Given the description of an element on the screen output the (x, y) to click on. 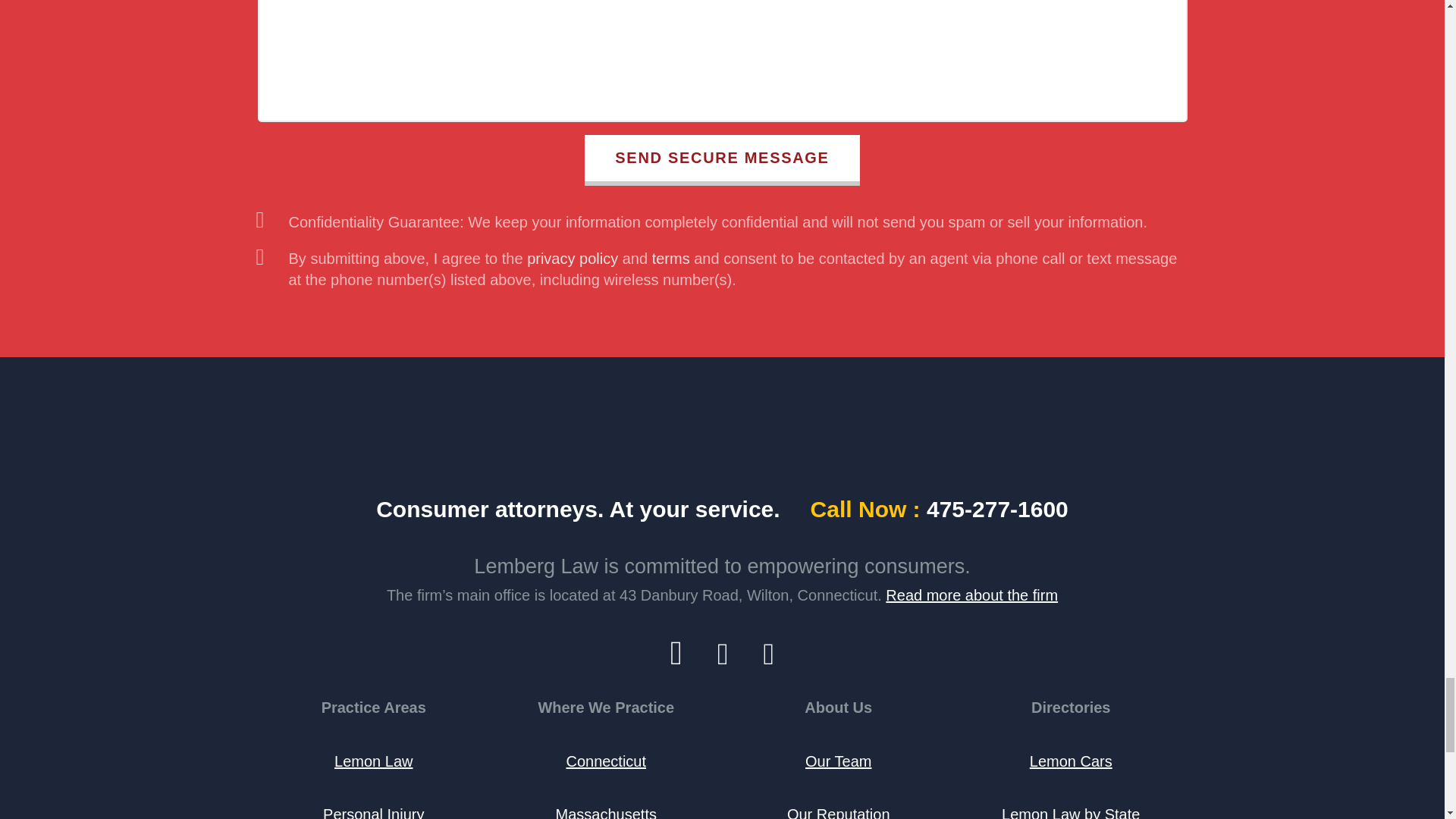
SEND SECURE MESSAGE (722, 160)
